Given the description of an element on the screen output the (x, y) to click on. 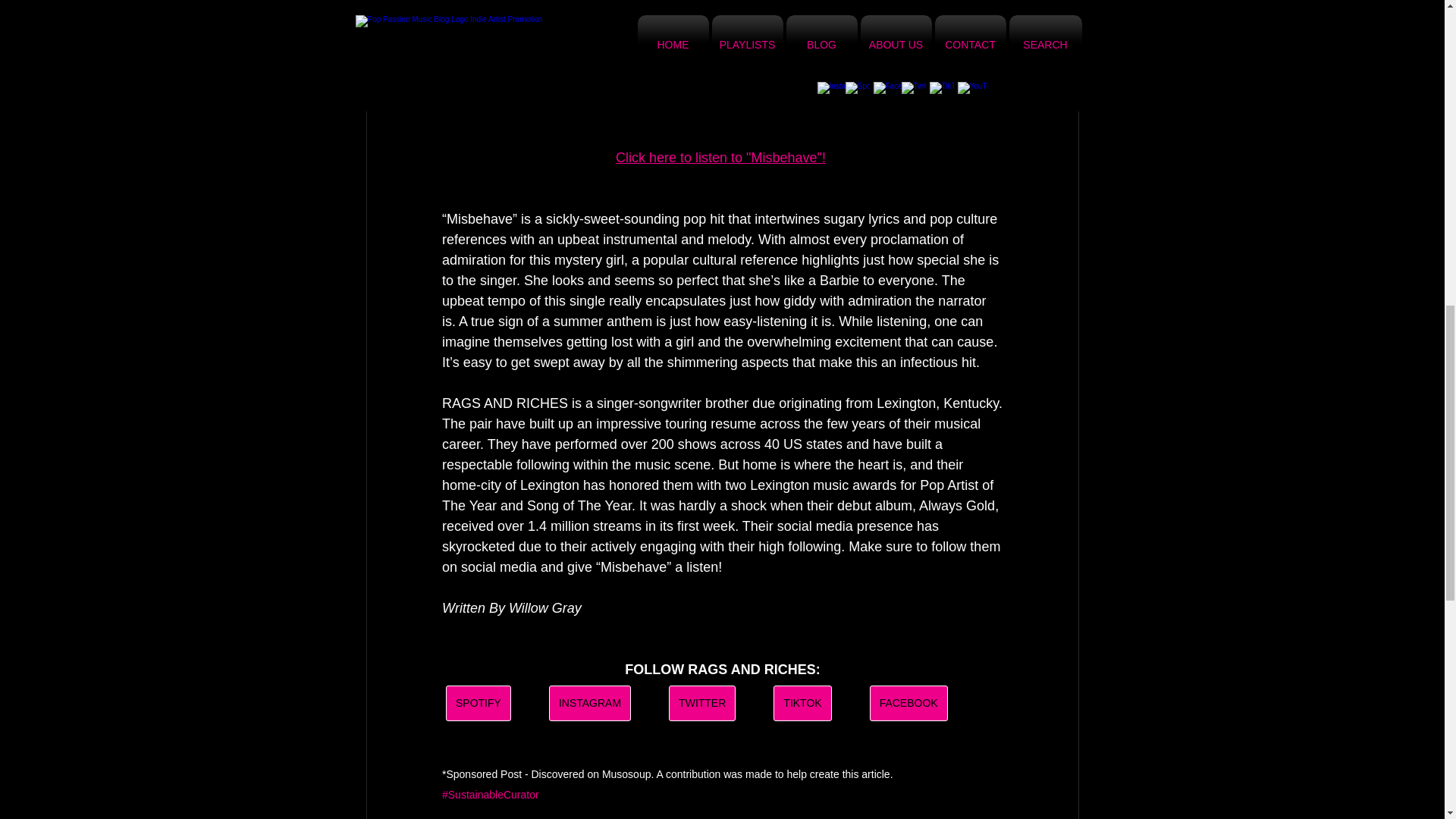
FACEBOOK (908, 703)
TIKTOK (802, 703)
TWITTER (701, 703)
Click here to listen to "Misbehave"! (720, 157)
SPOTIFY (478, 703)
INSTAGRAM (589, 703)
